Given the description of an element on the screen output the (x, y) to click on. 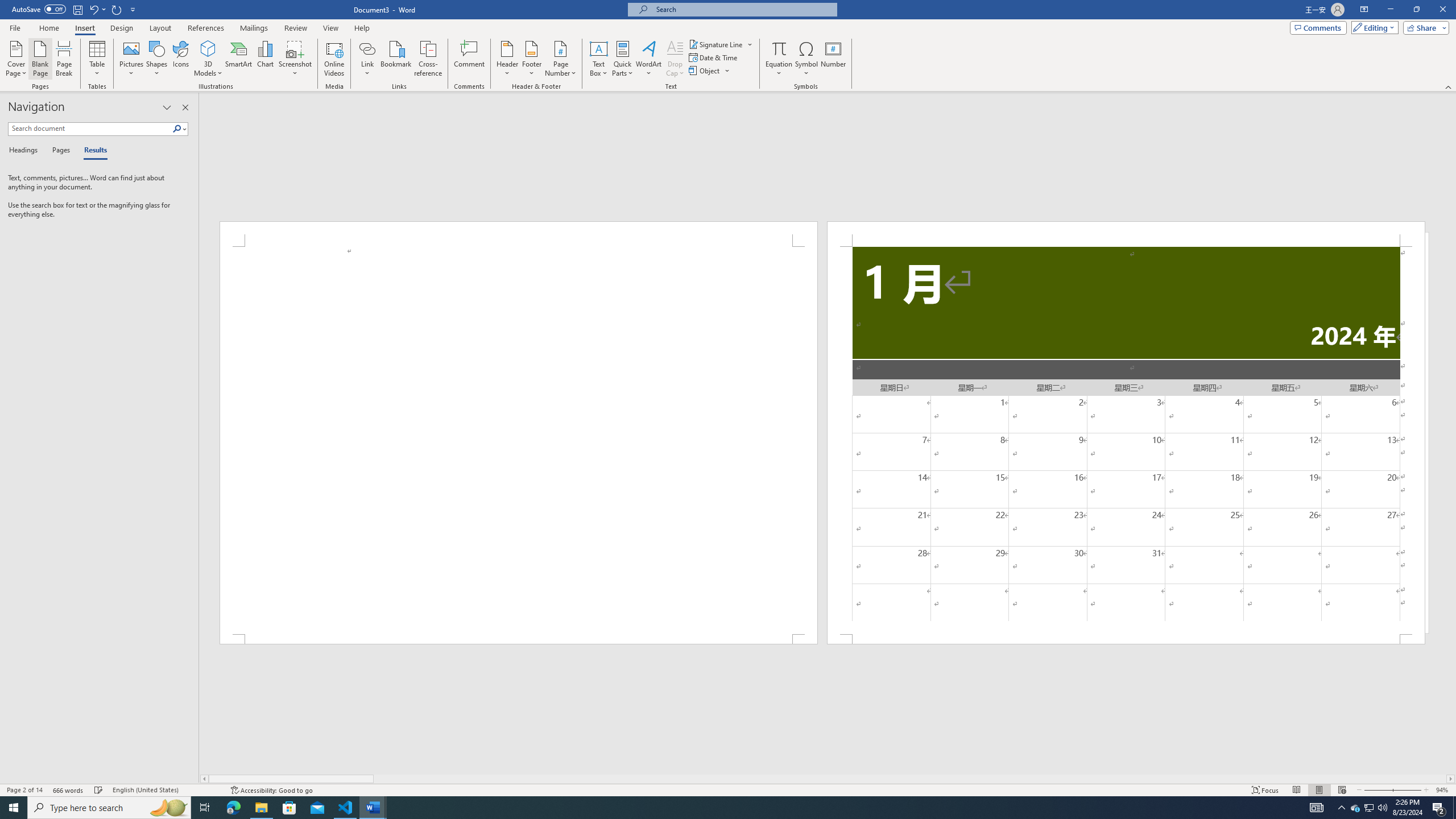
Link (367, 48)
Pictures (131, 58)
Header (507, 58)
Comment (469, 58)
Page 2 content (1126, 439)
Blank Page (40, 58)
Text Box (598, 58)
Link (367, 58)
Table (97, 58)
